Given the description of an element on the screen output the (x, y) to click on. 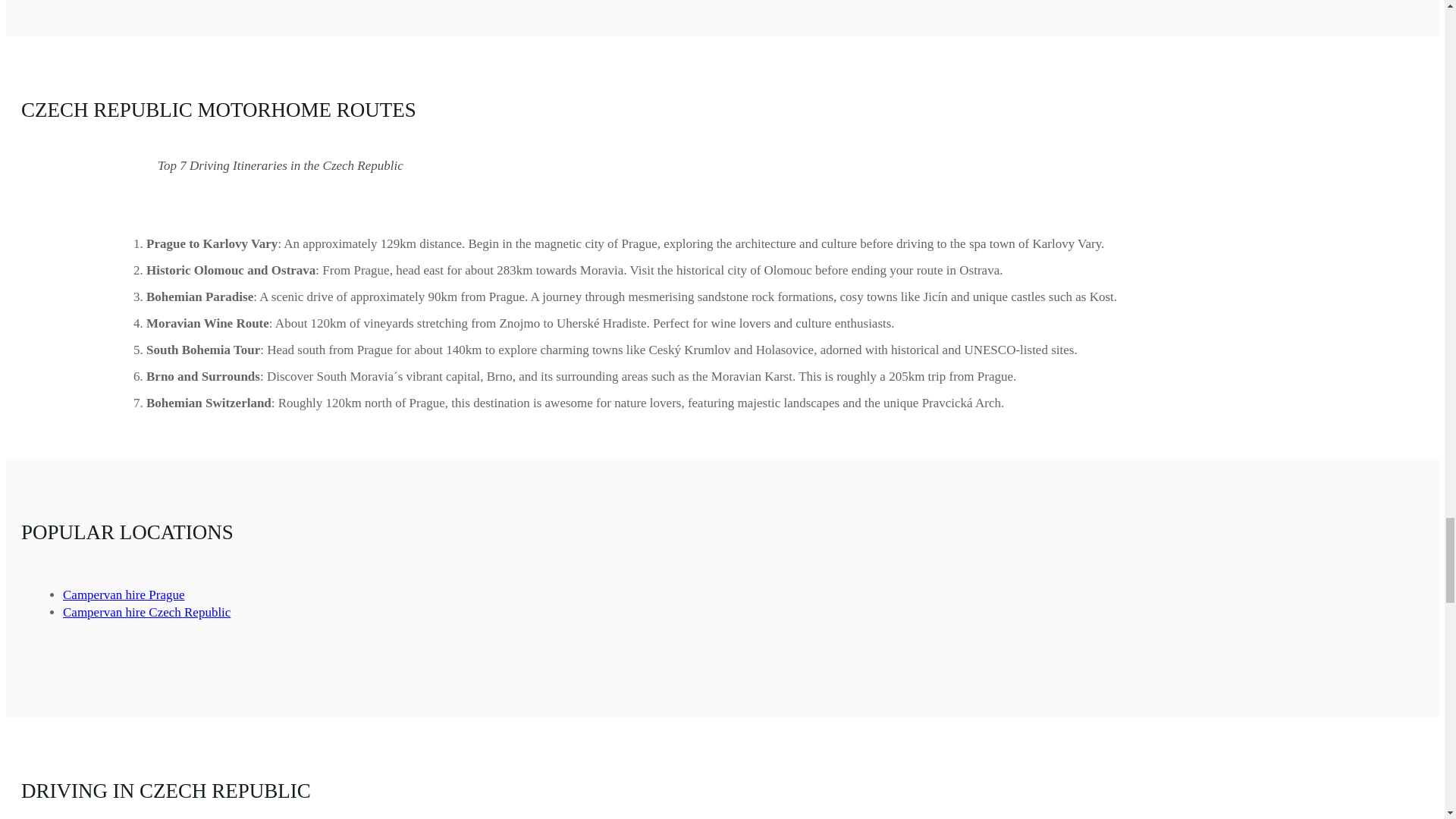
Campervan hire Prague (123, 594)
Campervan hire Czech Republic (146, 612)
